Given the description of an element on the screen output the (x, y) to click on. 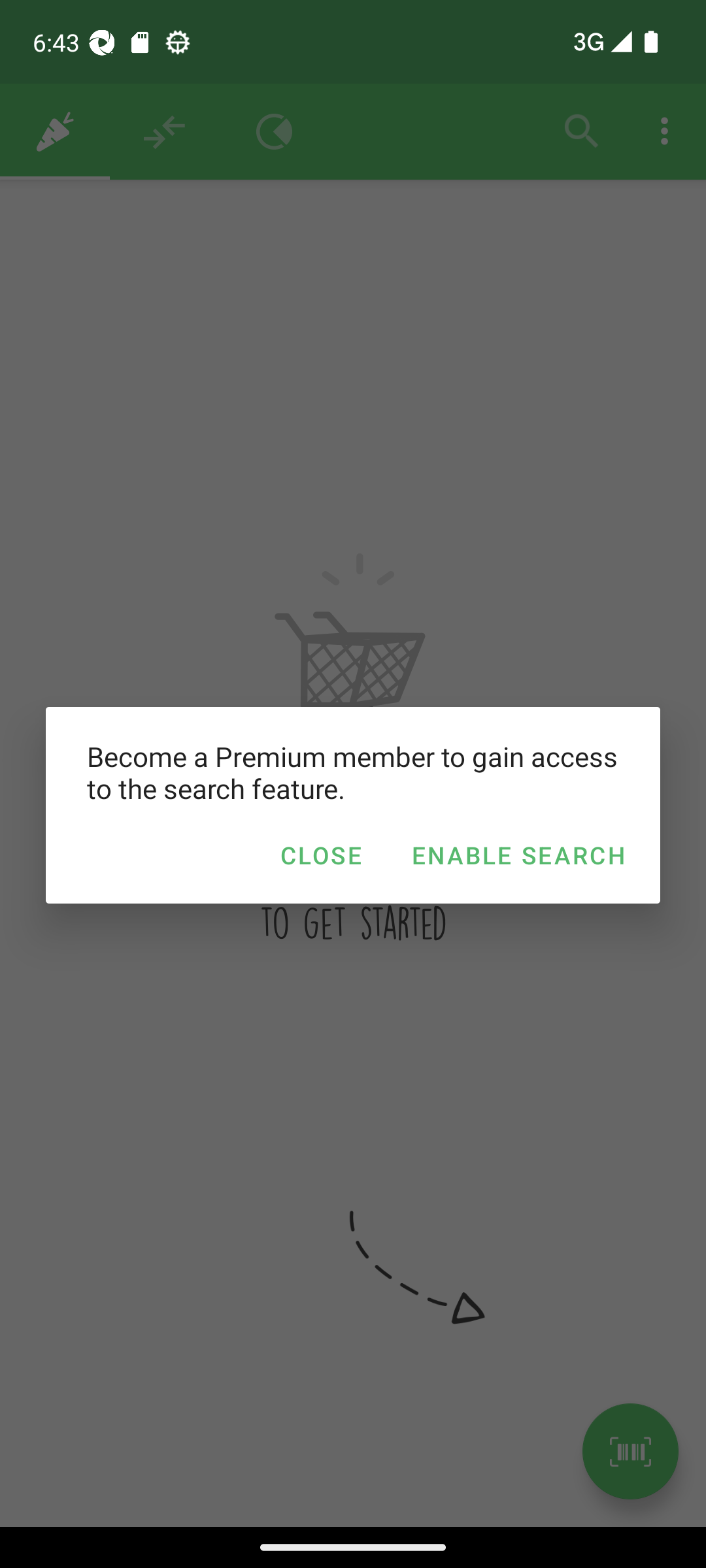
CLOSE (320, 854)
ENABLE SEARCH (517, 854)
